Given the description of an element on the screen output the (x, y) to click on. 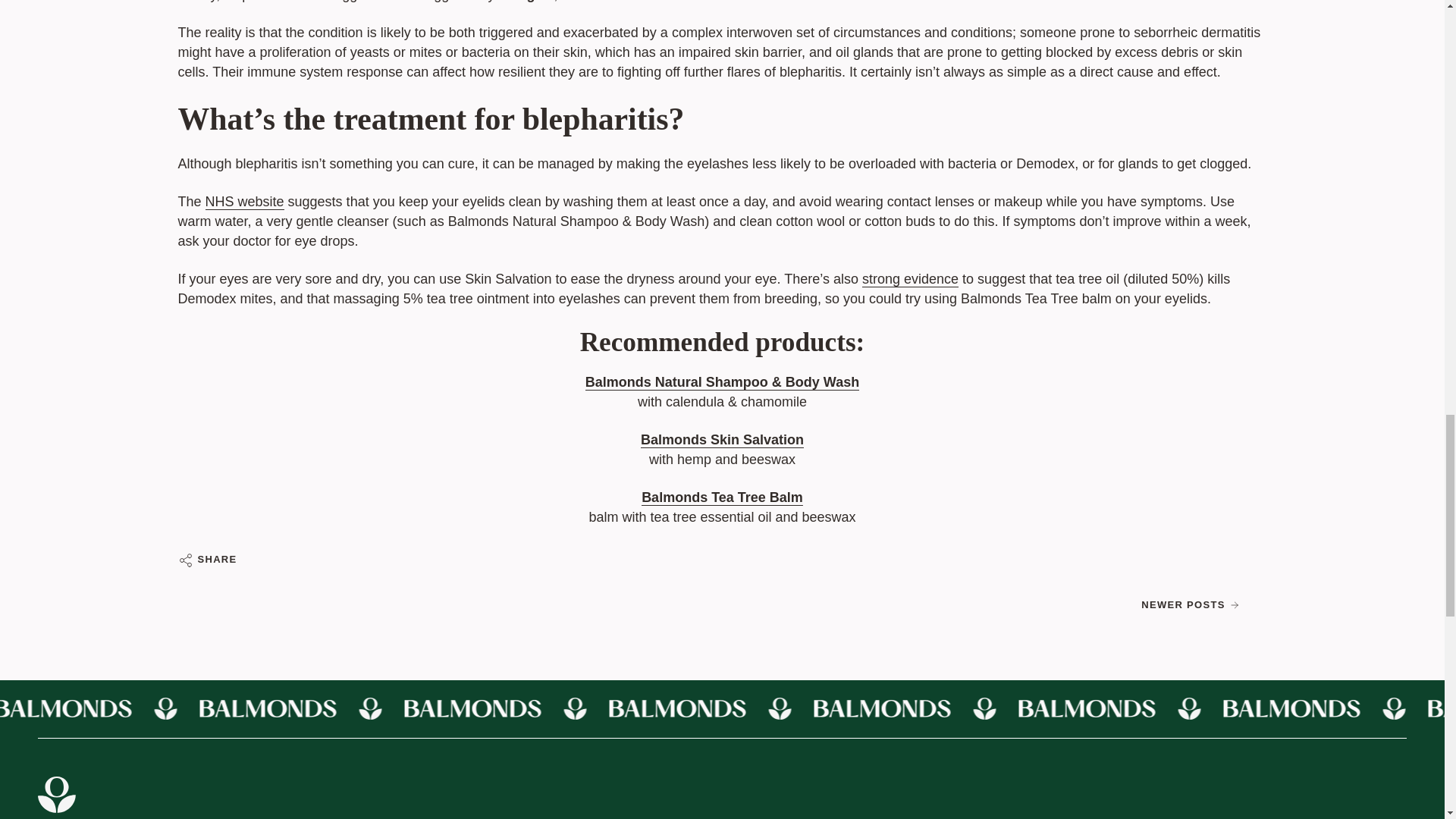
NHS management advice for people with blepharitis (244, 203)
Balmonds Tea Tree balm (722, 498)
Research that tea tree oil may help this condition (909, 280)
Balmonds Skin Salvation (721, 441)
